Given the description of an element on the screen output the (x, y) to click on. 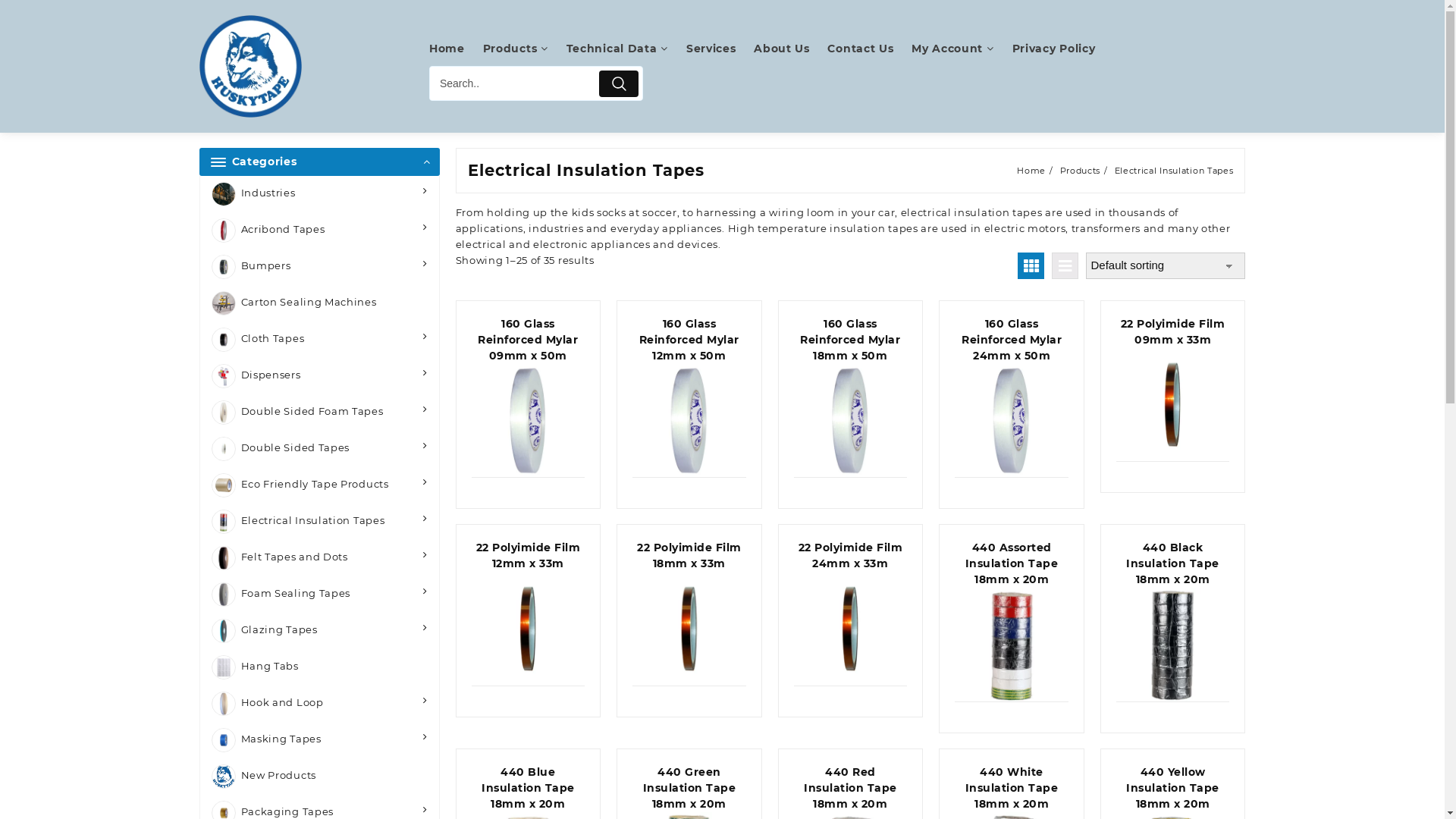
List View Element type: hover (1064, 265)
Home Element type: text (454, 48)
Industries Element type: text (319, 193)
Hook and Loop Element type: text (319, 703)
Glazing Tapes Element type: text (319, 630)
Technical Data Element type: text (625, 48)
22 Polyimide Film 24mm x 33m Element type: text (850, 613)
160 Glass Reinforced Mylar 12mm x 50m Element type: text (689, 396)
Hang Tabs Element type: text (319, 667)
22 Polyimide Film 18mm x 33m Element type: text (689, 613)
About Us Element type: text (789, 48)
Products Element type: text (523, 48)
Contact Us Element type: text (867, 48)
Foam Sealing Tapes Element type: text (319, 594)
Bumpers Element type: text (319, 266)
Double Sided Foam Tapes Element type: text (319, 412)
22 Polyimide Film 12mm x 33m Element type: text (528, 613)
22 Polyimide Film 09mm x 33m Element type: text (1173, 388)
Eco Friendly Tape Products Element type: text (319, 485)
160 Glass Reinforced Mylar 18mm x 50m Element type: text (850, 396)
Grid View Element type: hover (1030, 265)
Products Element type: text (1080, 170)
Felt Tapes and Dots Element type: text (319, 557)
My Account Element type: text (960, 48)
Services Element type: text (718, 48)
160 Glass Reinforced Mylar 09mm x 50m Element type: text (528, 396)
440 Black Insulation Tape 18mm x 20m Element type: text (1173, 621)
Submit Element type: text (619, 82)
Masking Tapes Element type: text (319, 739)
Carton Sealing Machines Element type: text (319, 303)
New Products Element type: text (319, 776)
Cloth Tapes Element type: text (319, 339)
Double Sided Tapes Element type: text (319, 448)
440 Assorted Insulation Tape 18mm x 20m Element type: text (1011, 621)
Dispensers Element type: text (319, 375)
160 Glass Reinforced Mylar 24mm x 50m Element type: text (1011, 396)
Acribond Tapes Element type: text (319, 230)
Privacy Policy Element type: text (1061, 48)
Home Element type: text (1030, 170)
Electrical Insulation Tapes Element type: text (319, 521)
Search Element type: hover (512, 83)
